Given the description of an element on the screen output the (x, y) to click on. 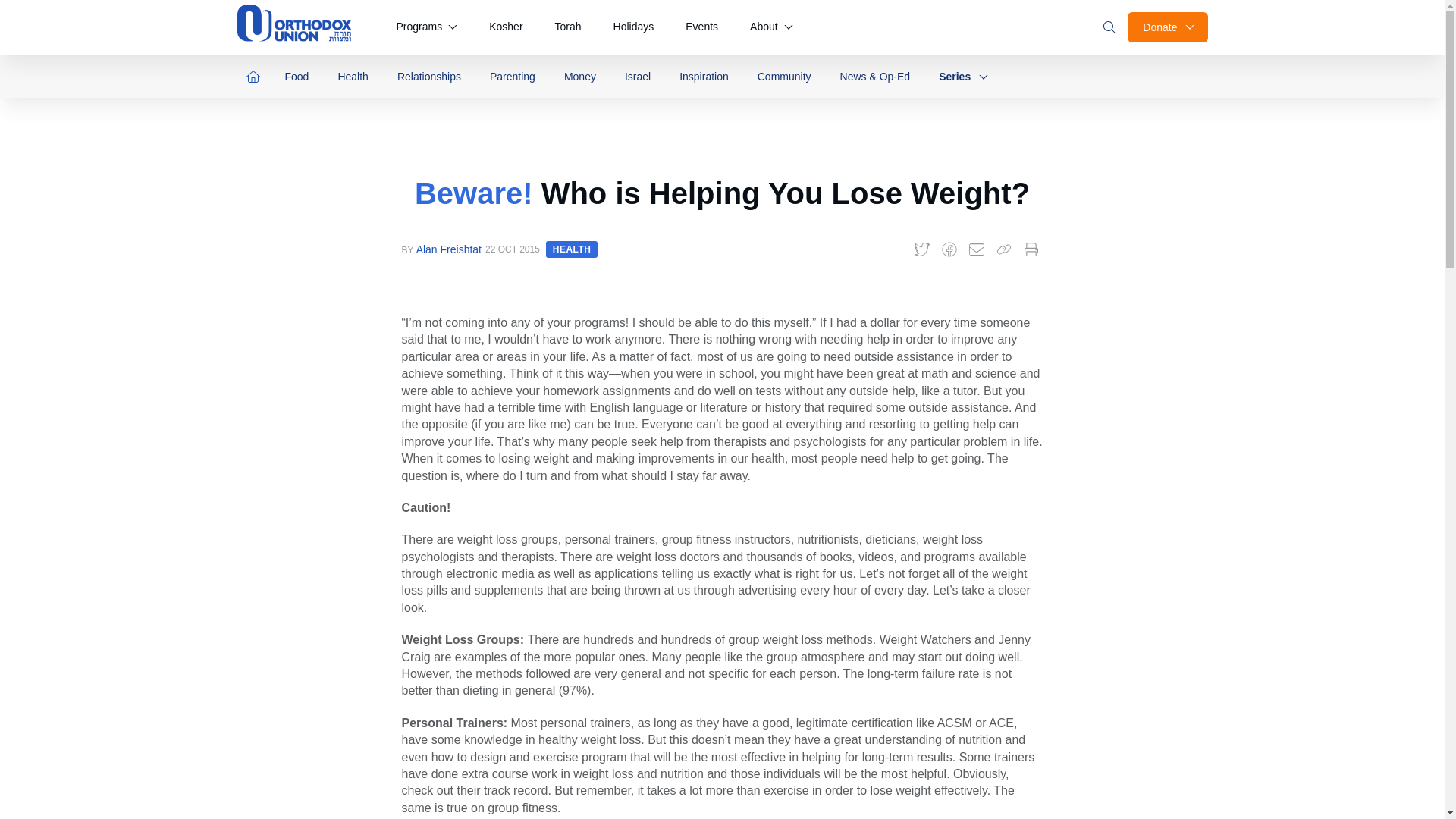
Donate (1166, 27)
Events (701, 27)
Kosher (505, 27)
Posts by Alan Freishtat (448, 249)
About (771, 27)
Holidays (633, 27)
Programs (425, 27)
Torah (568, 27)
